Given the description of an element on the screen output the (x, y) to click on. 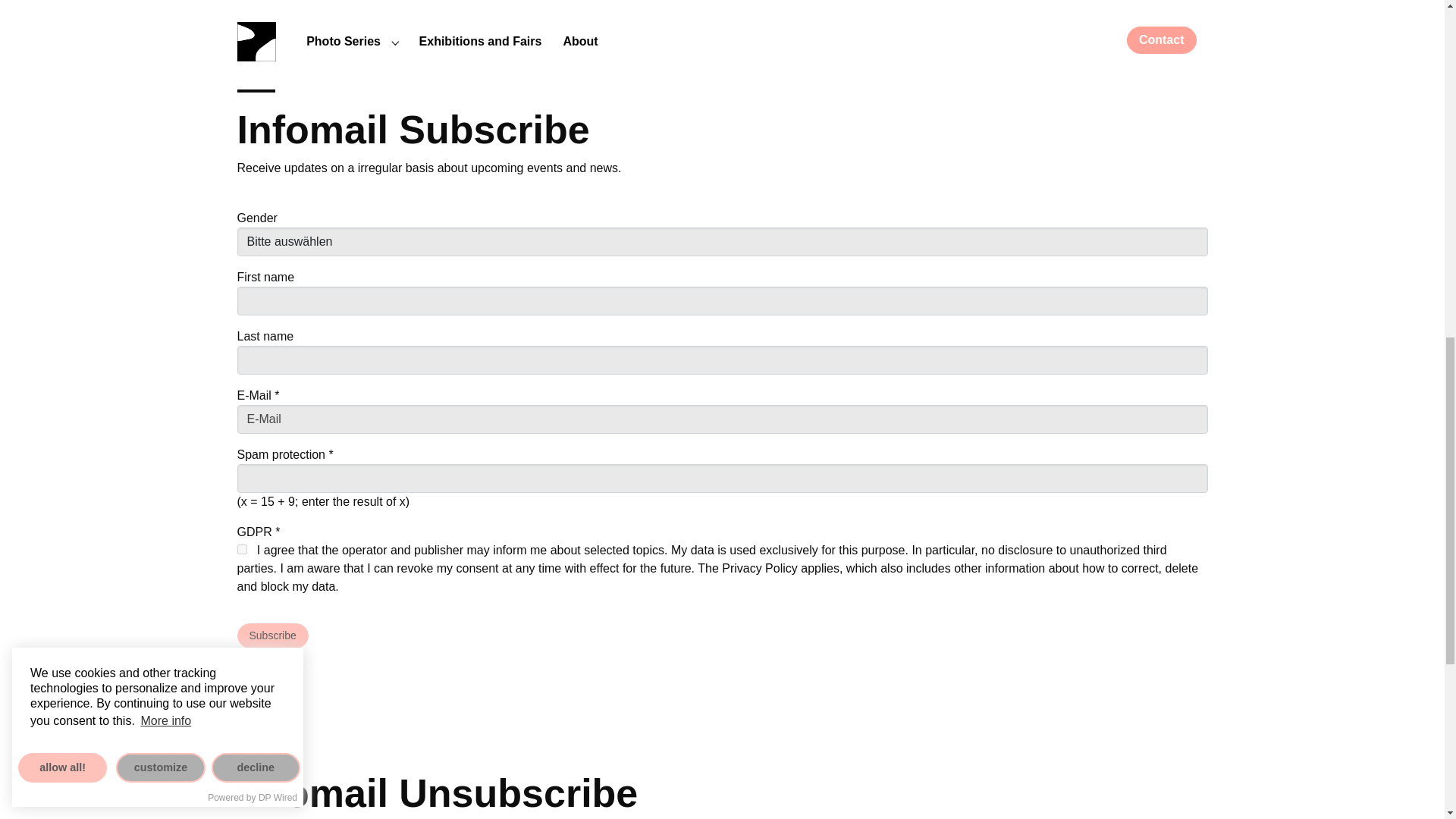
Privacy Policy (761, 567)
Subscribe (271, 635)
1 (240, 549)
Subscribe (271, 635)
